Given the description of an element on the screen output the (x, y) to click on. 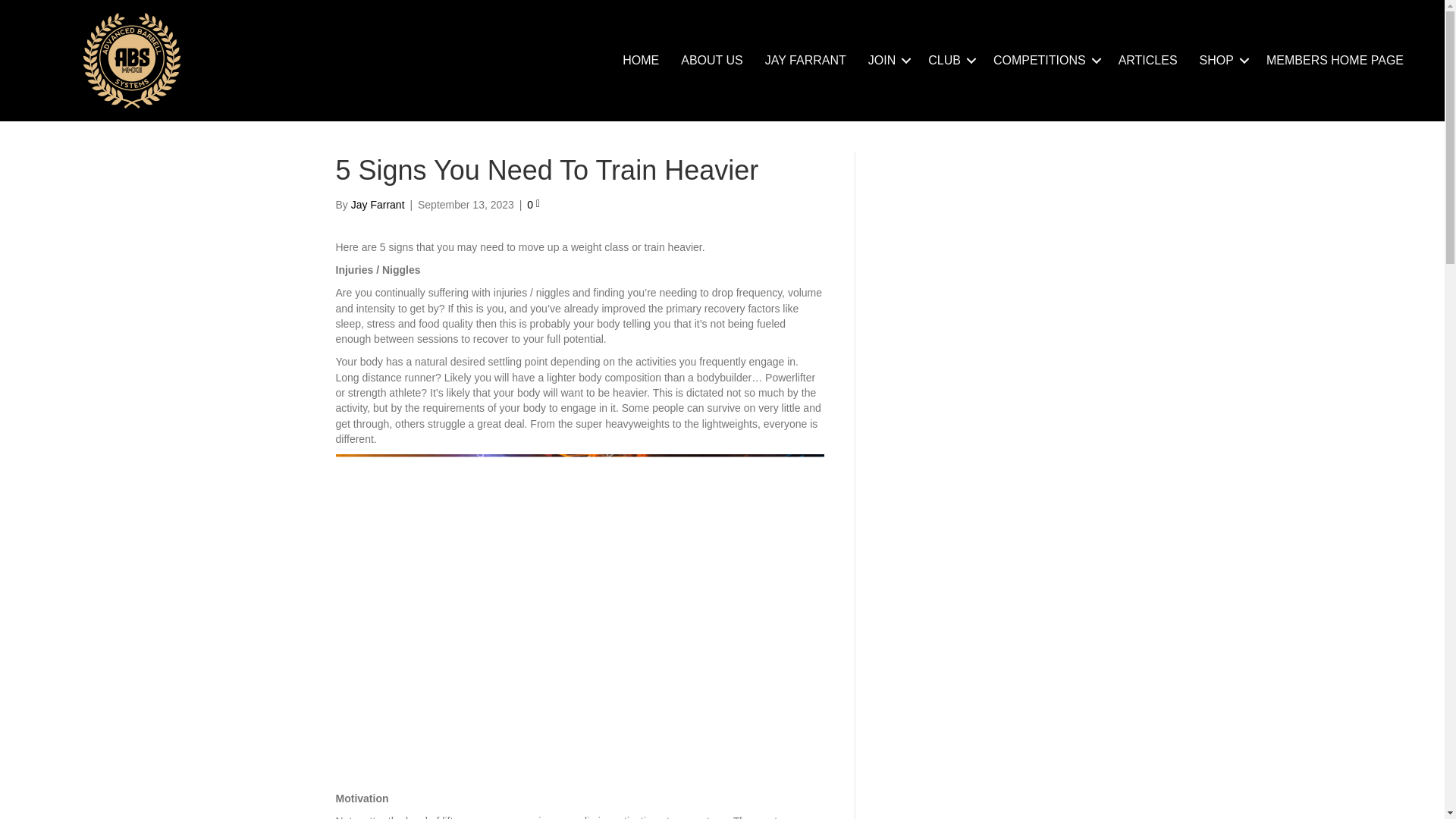
Jay Farrant (377, 204)
HOME (640, 59)
CLUB (949, 59)
JAY FARRANT (805, 59)
JOIN (887, 59)
ABOUT US (711, 59)
SHOP (1222, 59)
ARTICLES (1148, 59)
0 (533, 204)
MEMBERS HOME PAGE (1334, 59)
